Given the description of an element on the screen output the (x, y) to click on. 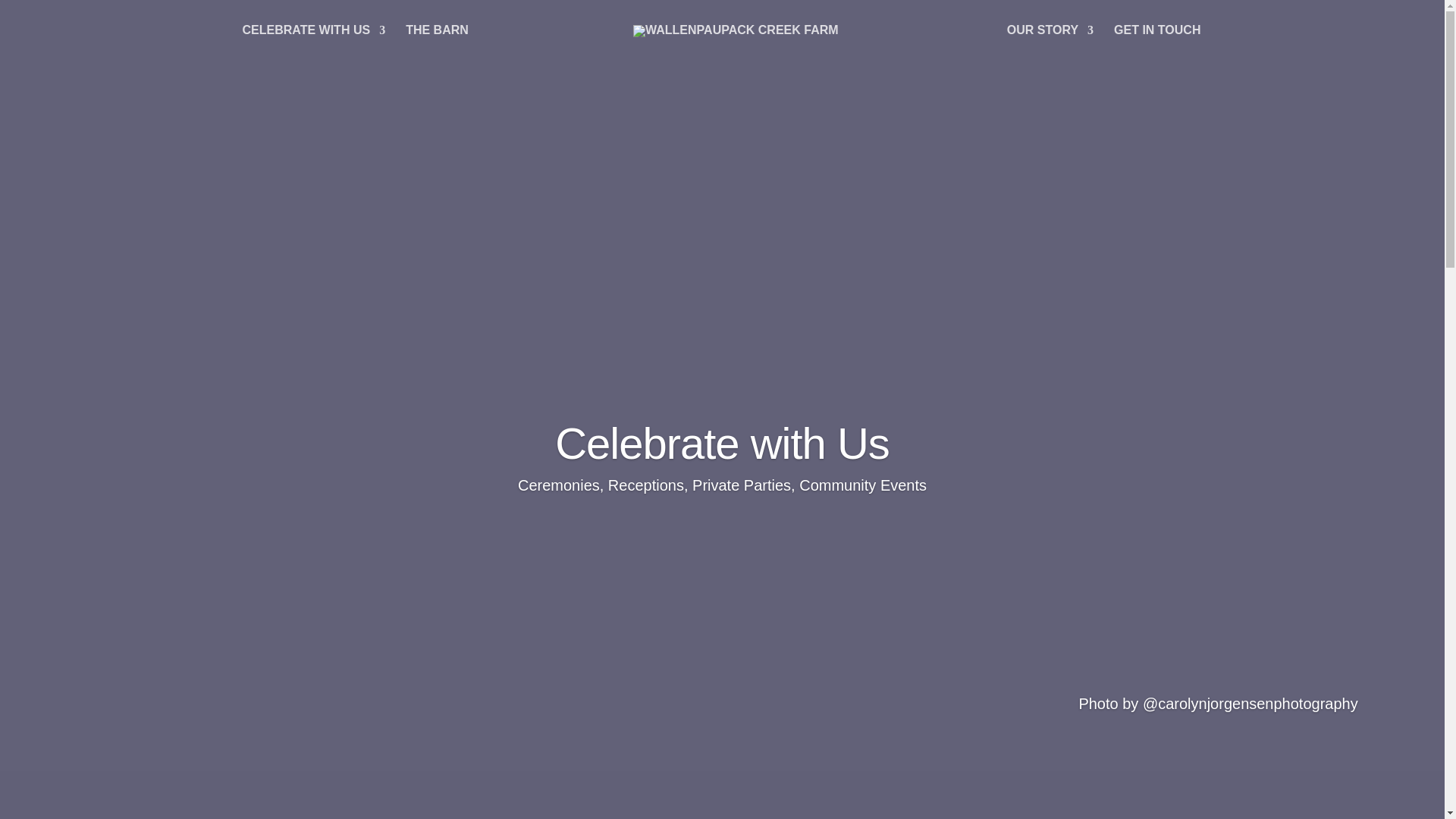
CELEBRATE WITH US (314, 41)
OUR STORY (1050, 41)
GET IN TOUCH (1156, 41)
THE BARN (437, 41)
